Given the description of an element on the screen output the (x, y) to click on. 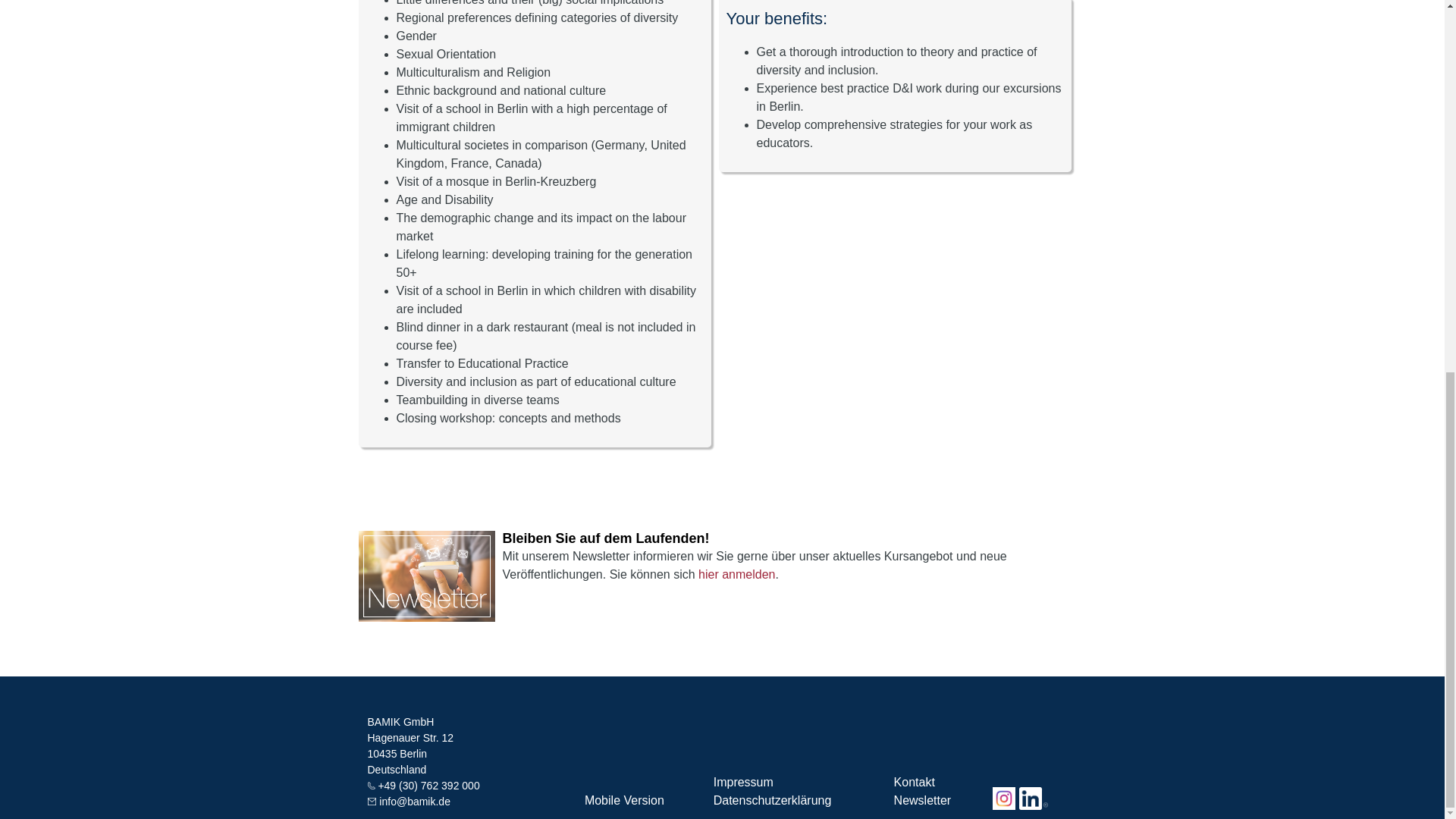
hier anmelden (736, 574)
Mobile Version (624, 799)
Impressum (743, 781)
